Given the description of an element on the screen output the (x, y) to click on. 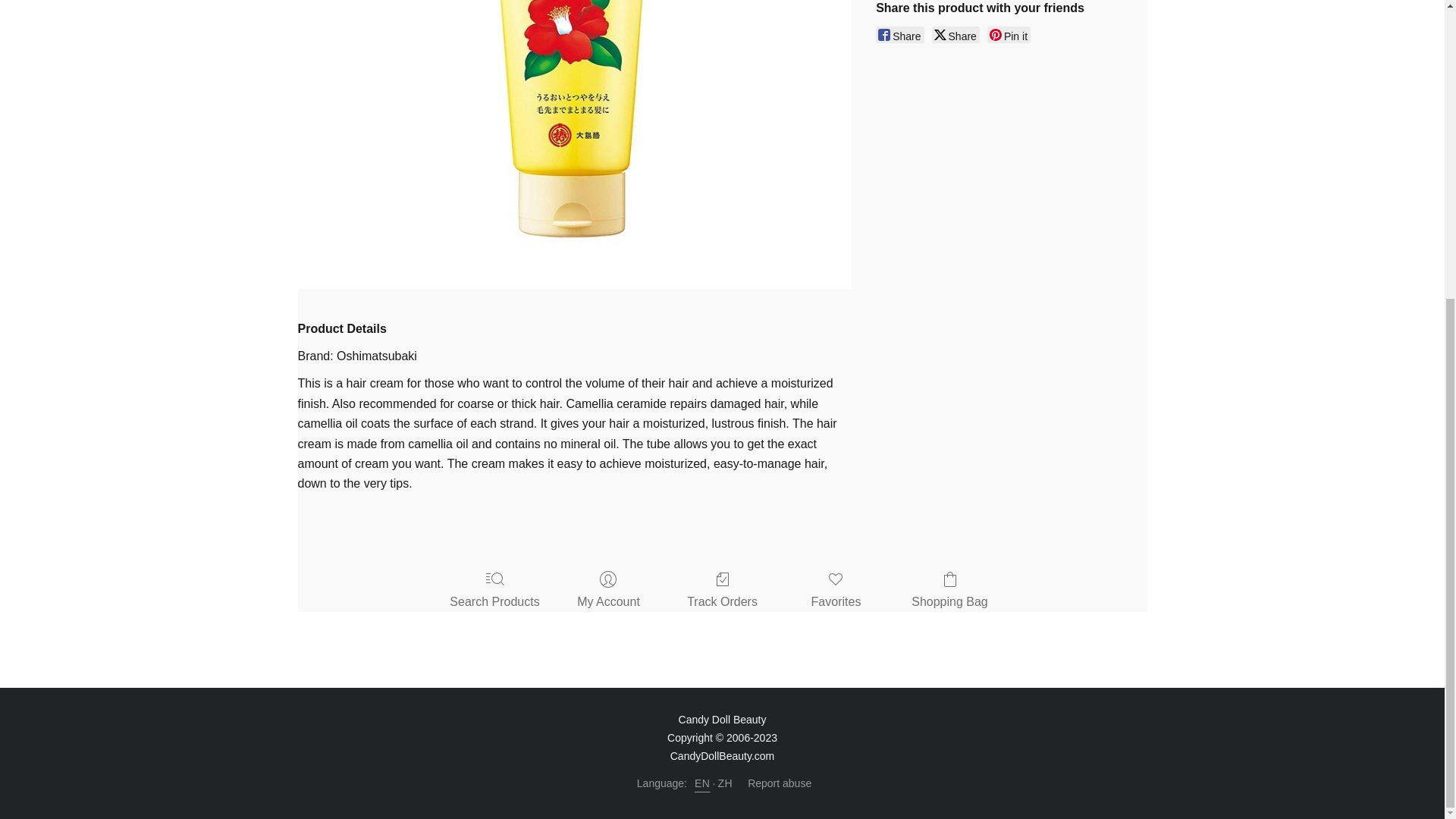
Share (899, 34)
Shopping Bag (949, 590)
My Account (608, 590)
Share (955, 34)
Track Orders (722, 590)
Favorites (836, 590)
Pin it (1008, 34)
Search Products (494, 590)
